Given the description of an element on the screen output the (x, y) to click on. 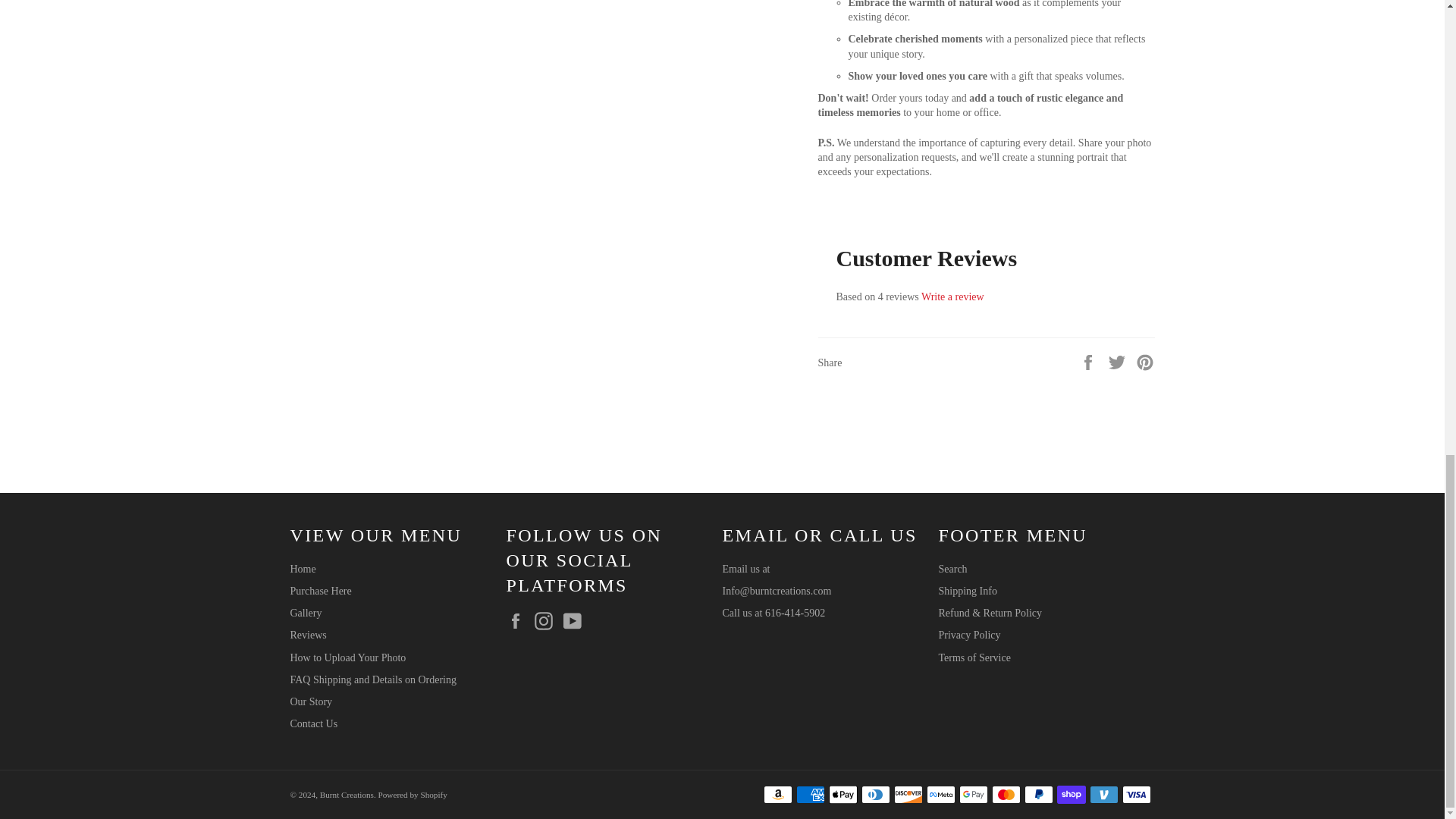
Burnt Creations on Instagram (547, 620)
Burnt Creations on Facebook (519, 620)
Burnt Creations on YouTube (575, 620)
Share on Facebook (1089, 361)
Tweet on Twitter (1118, 361)
Pin on Pinterest (1144, 361)
